Given the description of an element on the screen output the (x, y) to click on. 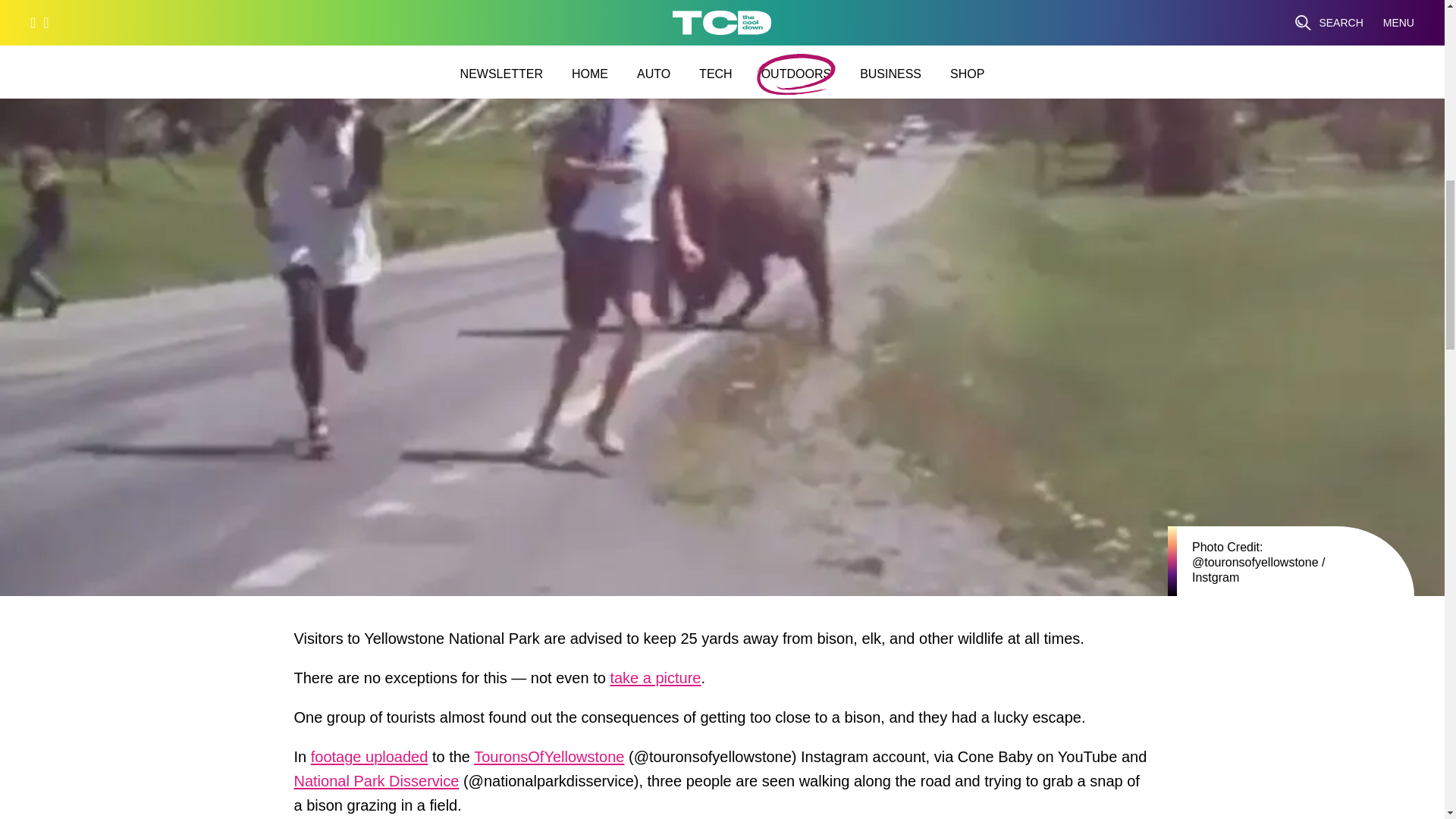
National Park Disservice (377, 784)
TouronsOfYellowstone (549, 760)
take a picture (655, 681)
footage uploaded (369, 760)
